Given the description of an element on the screen output the (x, y) to click on. 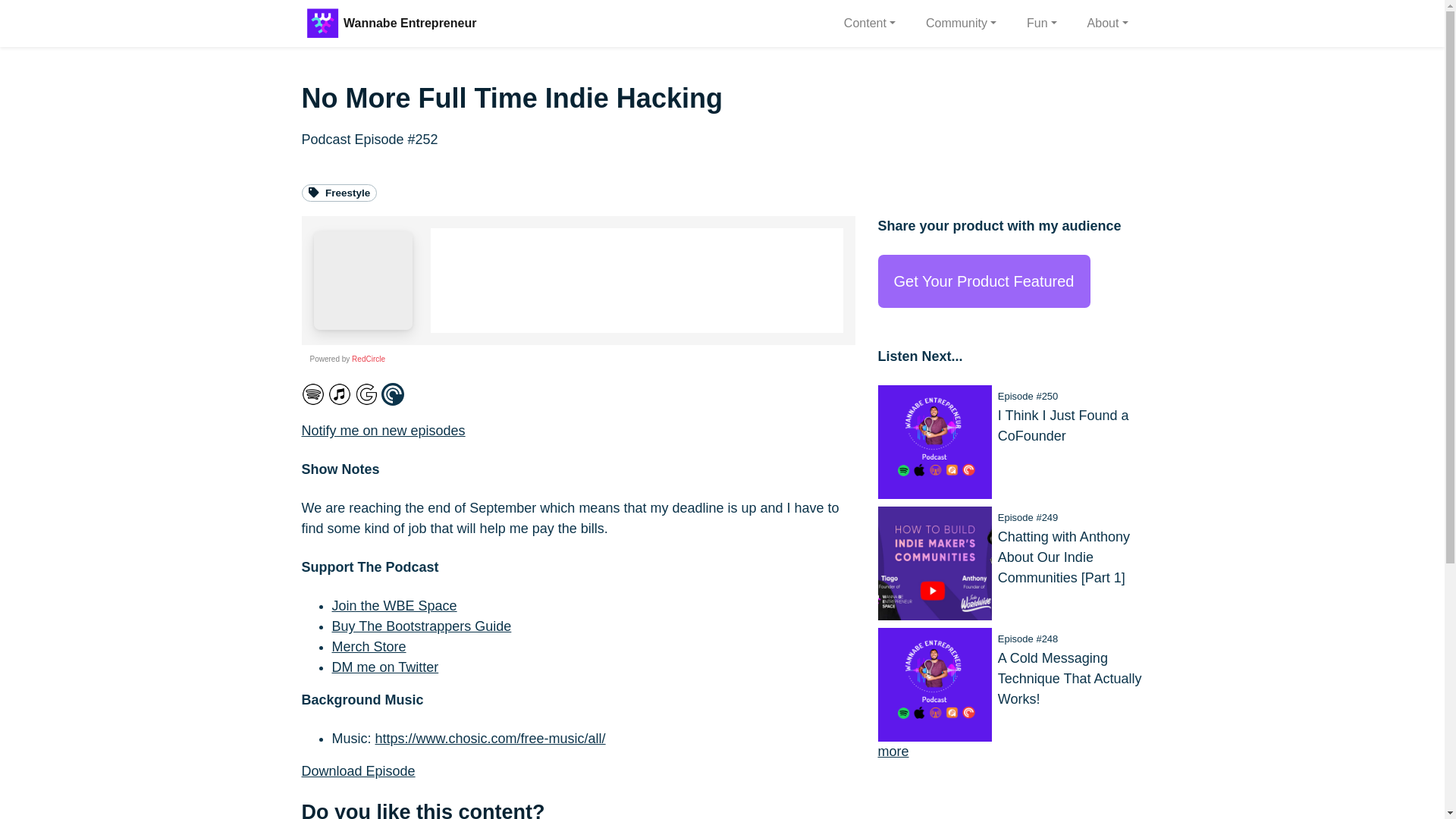
Download Episode (357, 770)
Freestyle (339, 192)
Merch Store (368, 646)
more (892, 751)
Fun (1041, 23)
Content (869, 23)
Buy The Bootstrappers Guide (421, 626)
About (1106, 23)
Notify me on new episodes (383, 430)
RedCircle (368, 358)
